Given the description of an element on the screen output the (x, y) to click on. 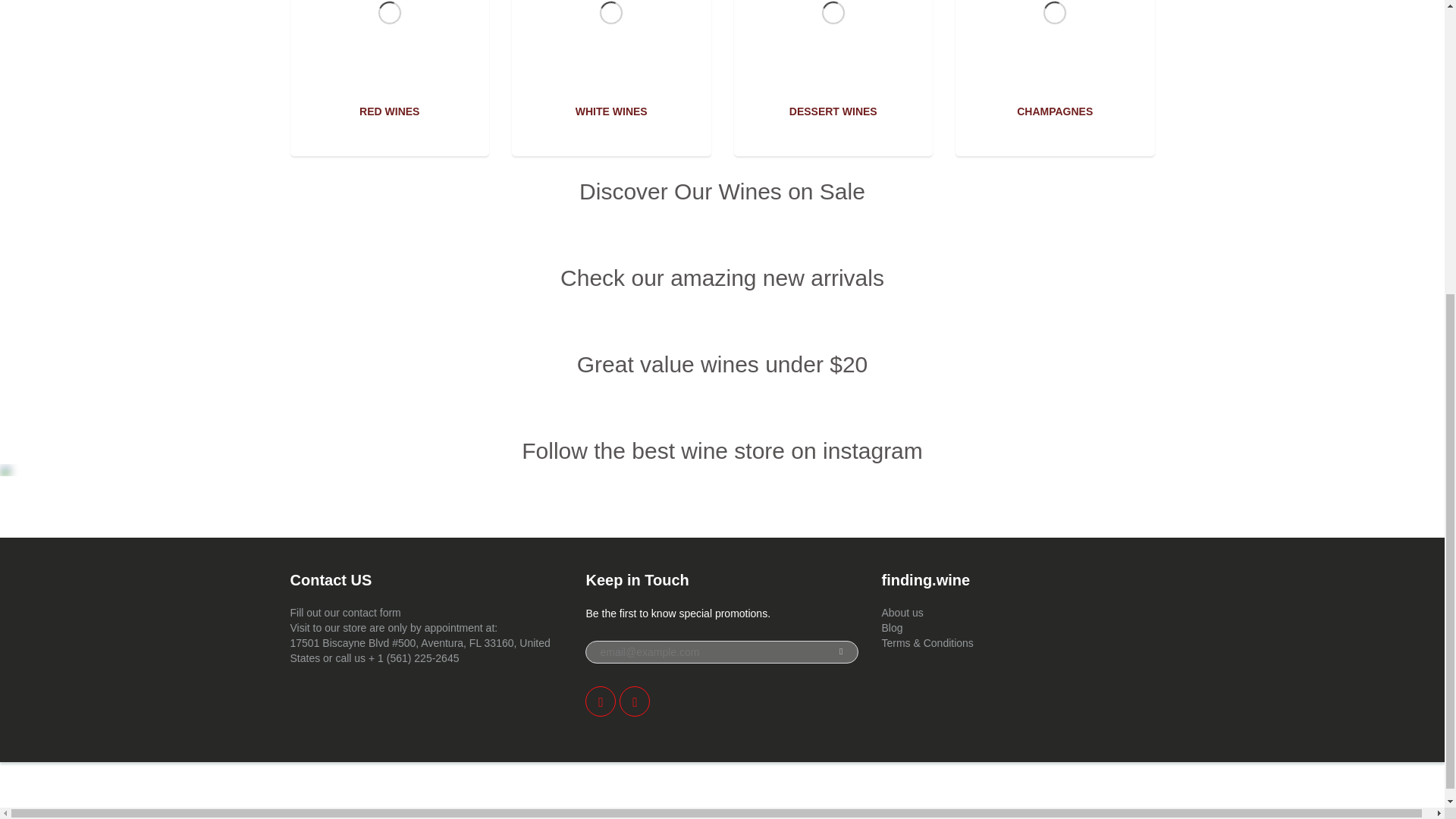
Browse our Champagnes collection (1054, 111)
Browse our Red wines collection (389, 111)
Instagram (634, 701)
Browse our Dessert wines collection (833, 111)
Facebook (600, 701)
Browse our White wines collection (611, 111)
